Given the description of an element on the screen output the (x, y) to click on. 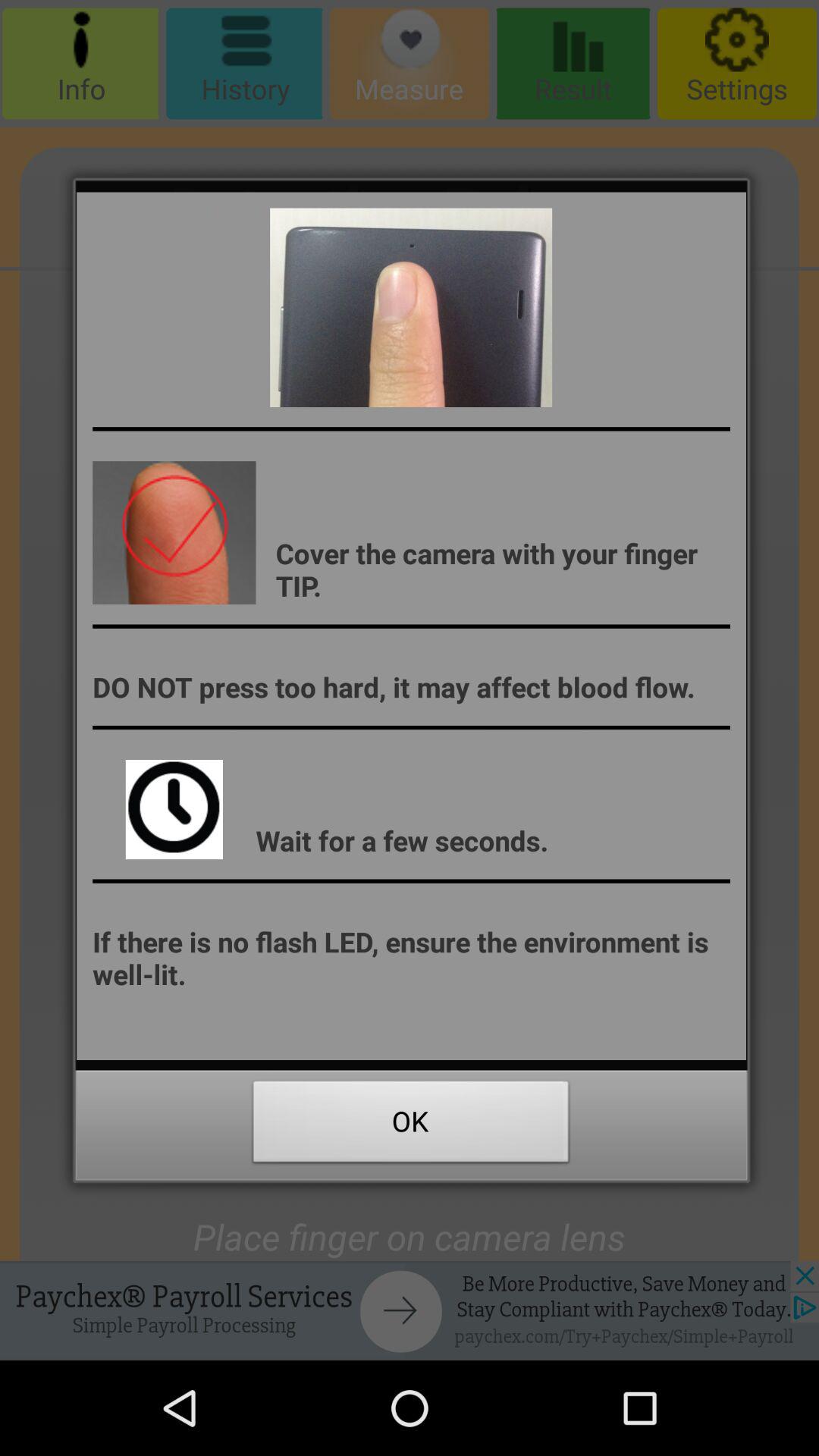
choose item below if there is icon (410, 1125)
